Given the description of an element on the screen output the (x, y) to click on. 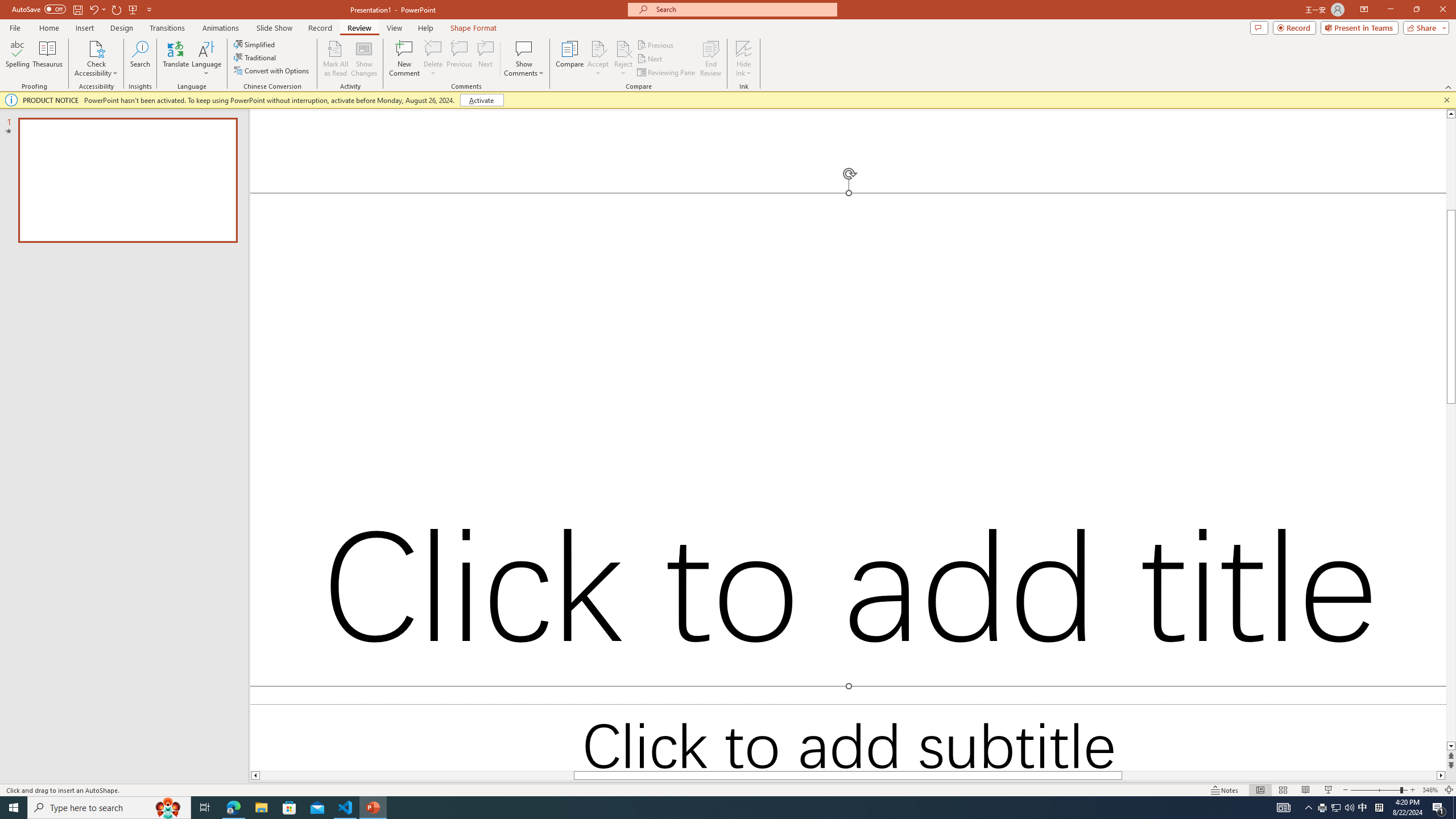
Convert with Options... (272, 69)
Translate (175, 58)
Accept (598, 58)
Zoom 346% (1430, 790)
Compare (569, 58)
